Given the description of an element on the screen output the (x, y) to click on. 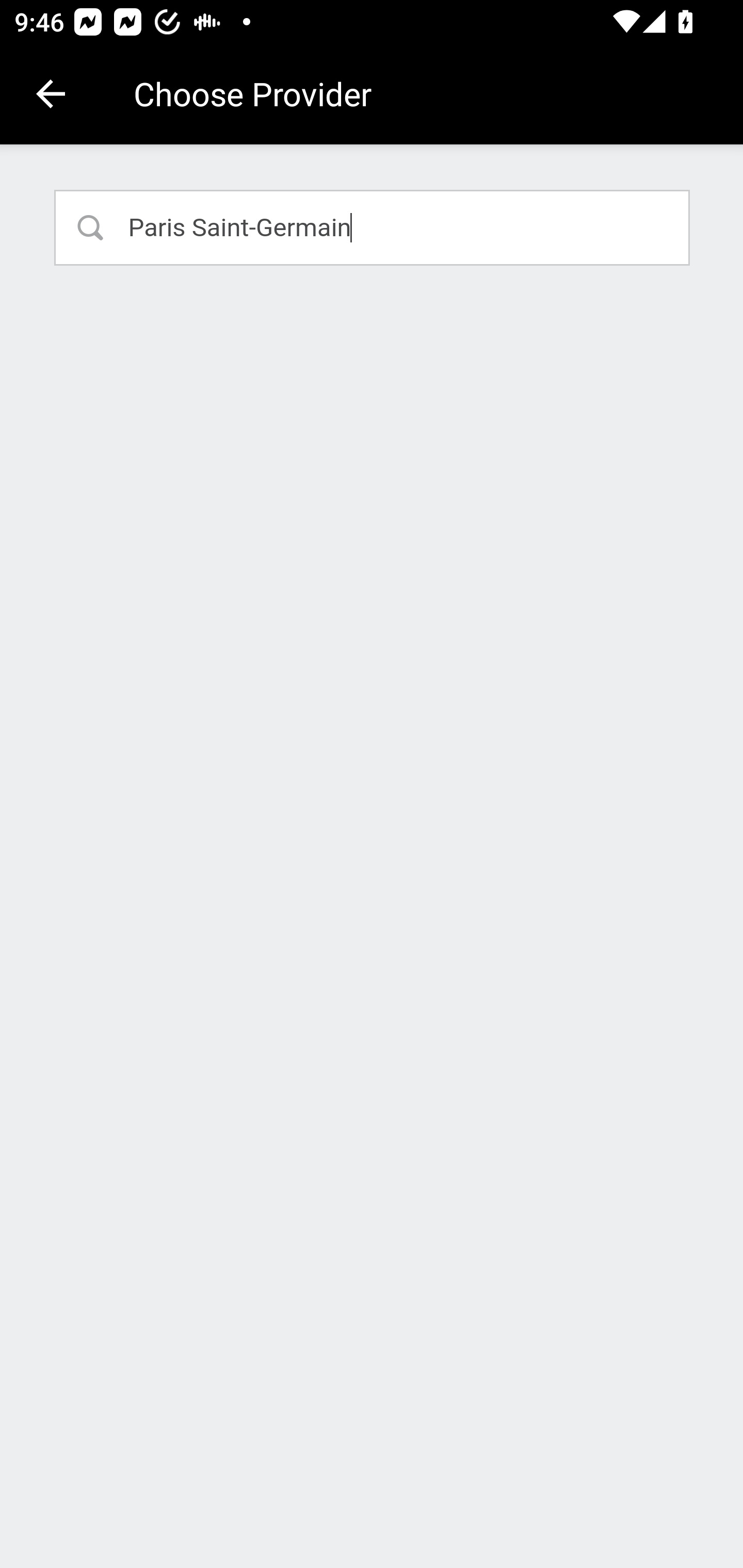
Navigate up (50, 93)
Paris Saint-Germain (372, 227)
